Given the description of an element on the screen output the (x, y) to click on. 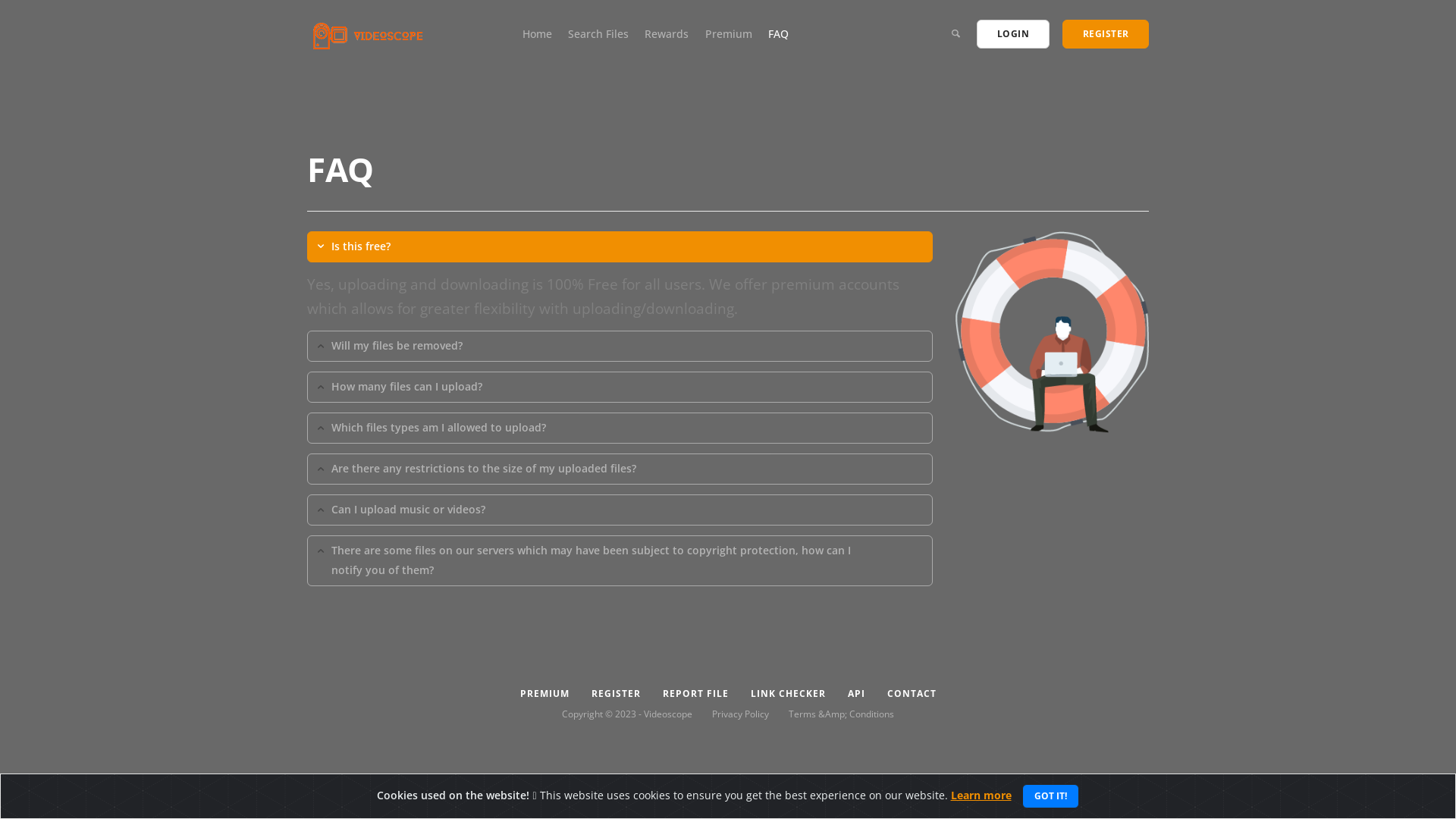
API Element type: text (855, 693)
REGISTER Element type: text (1104, 33)
Home Element type: text (537, 33)
REPORT FILE Element type: text (695, 693)
LOGIN Element type: text (1012, 33)
Rewards Element type: text (666, 33)
FAQ Element type: text (778, 33)
REGISTER Element type: text (615, 693)
Premium Element type: text (728, 33)
PREMIUM Element type: text (544, 693)
Learn more Element type: text (980, 794)
GOT IT! Element type: text (1050, 796)
Search Files Element type: text (597, 33)
CONTACT Element type: text (911, 693)
LINK CHECKER Element type: text (787, 693)
Privacy Policy Element type: text (740, 713)
Terms &Amp; Conditions Element type: text (841, 713)
